Given the description of an element on the screen output the (x, y) to click on. 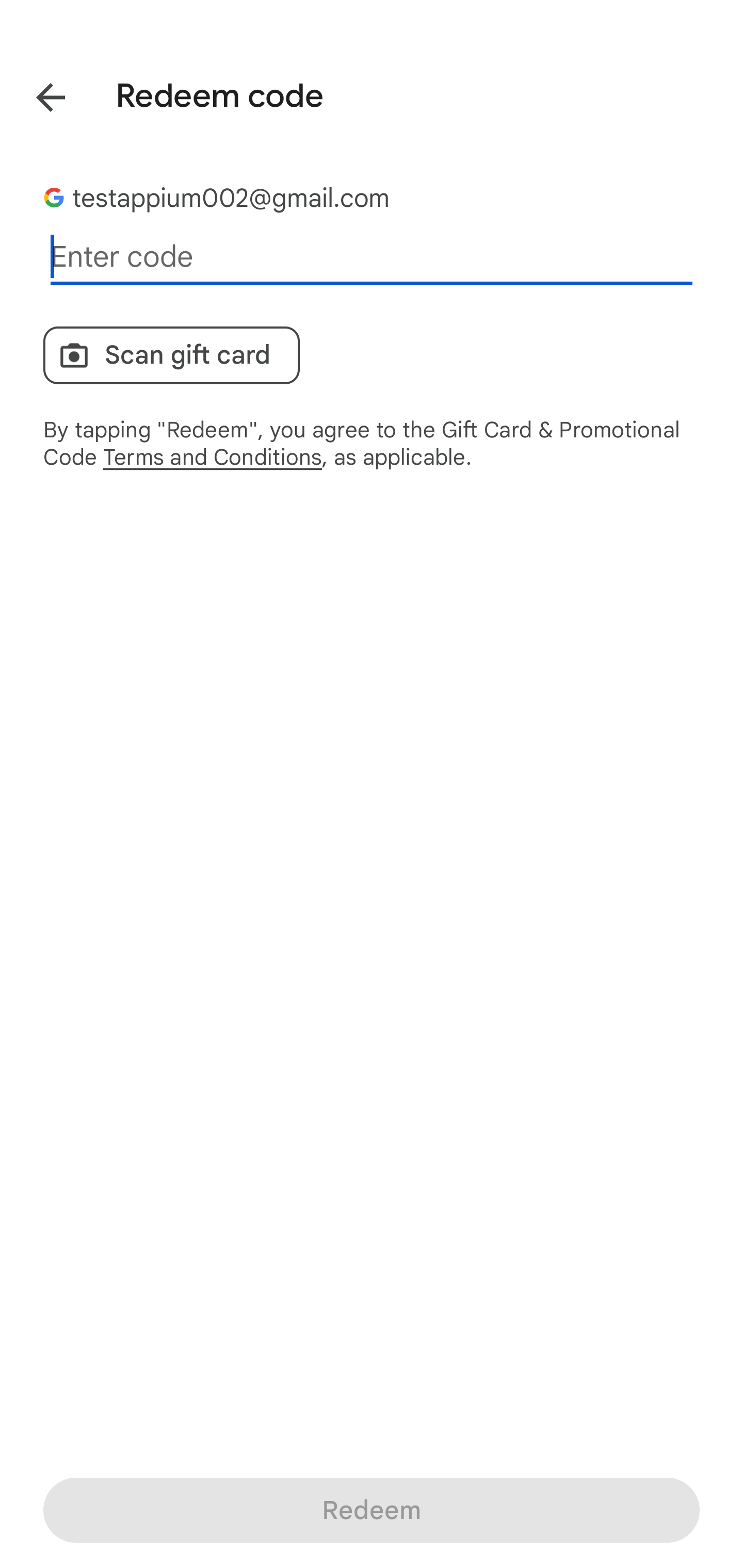
Back (36, 94)
Enter code (371, 256)
Scan gift card (171, 355)
